Given the description of an element on the screen output the (x, y) to click on. 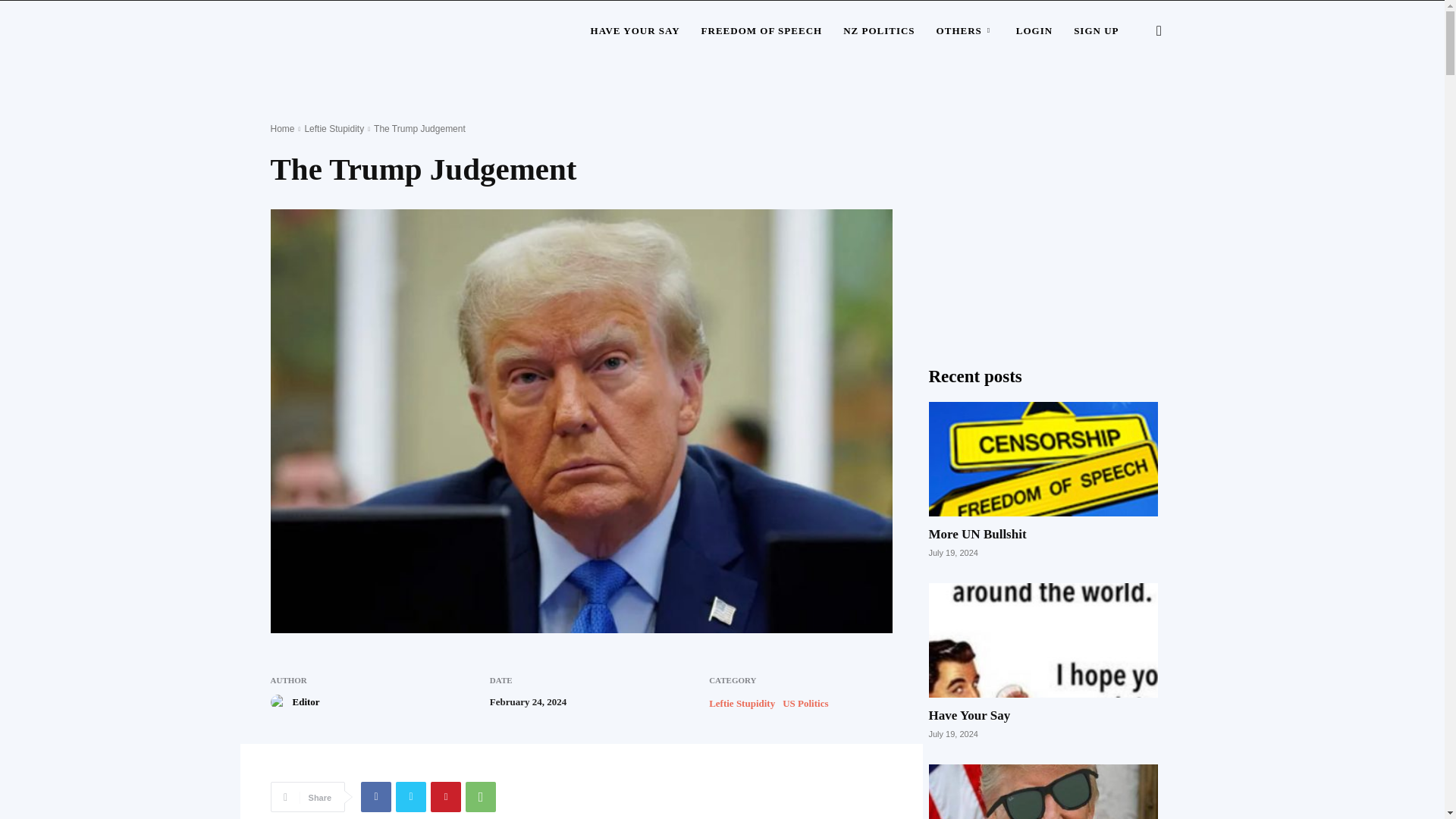
Twitter (411, 797)
WhatsApp (480, 797)
View all posts in Leftie Stupidity (334, 128)
Facebook (376, 797)
FREEDOM OF SPEECH (761, 30)
LOGIN (1034, 30)
SIGN UP (1095, 30)
Pinterest (445, 797)
NZ POLITICS (878, 30)
HAVE YOUR SAY (634, 30)
